Given the description of an element on the screen output the (x, y) to click on. 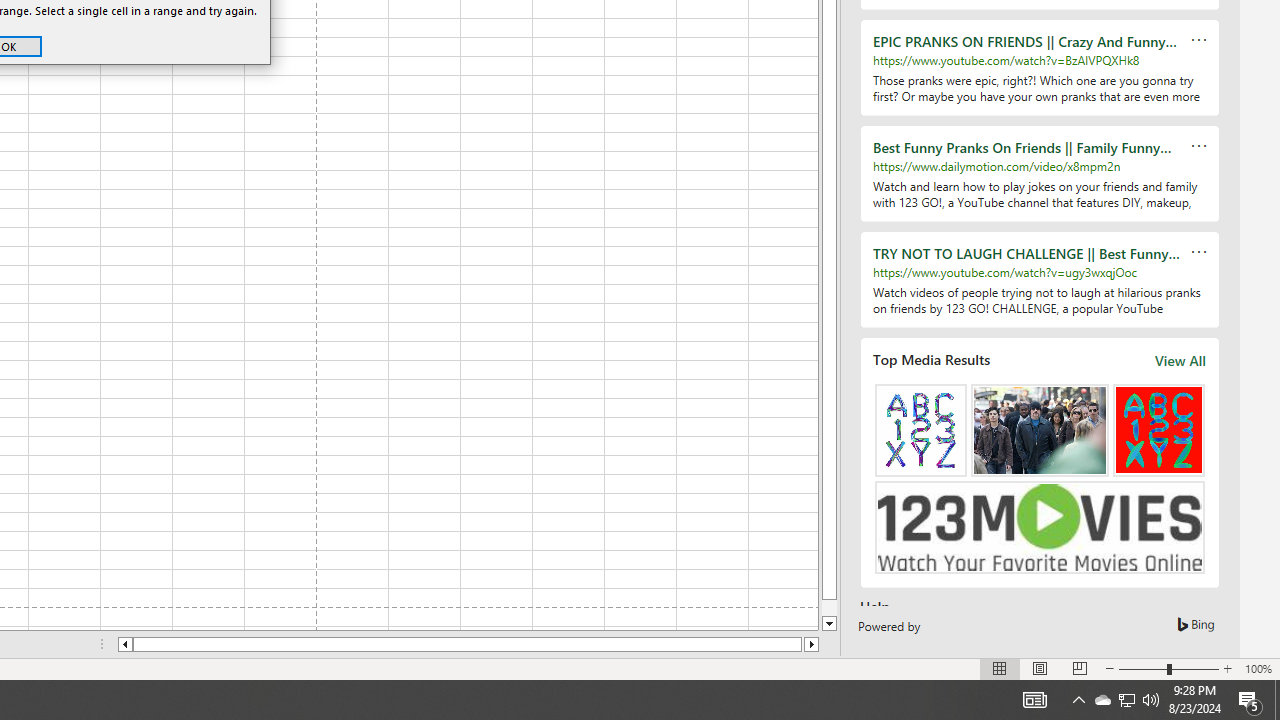
Class: NetUIScrollBar (468, 644)
Column left (124, 644)
Q2790: 100% (1151, 699)
Zoom Out (1142, 668)
Line down (829, 624)
Page down (829, 607)
Show desktop (1277, 699)
Page Layout (1039, 668)
AutomationID: 4105 (1034, 699)
Action Center, 5 new notifications (1250, 699)
Page Break Preview (1079, 668)
Column right (811, 644)
Zoom (1168, 668)
Normal (1000, 668)
